Given the description of an element on the screen output the (x, y) to click on. 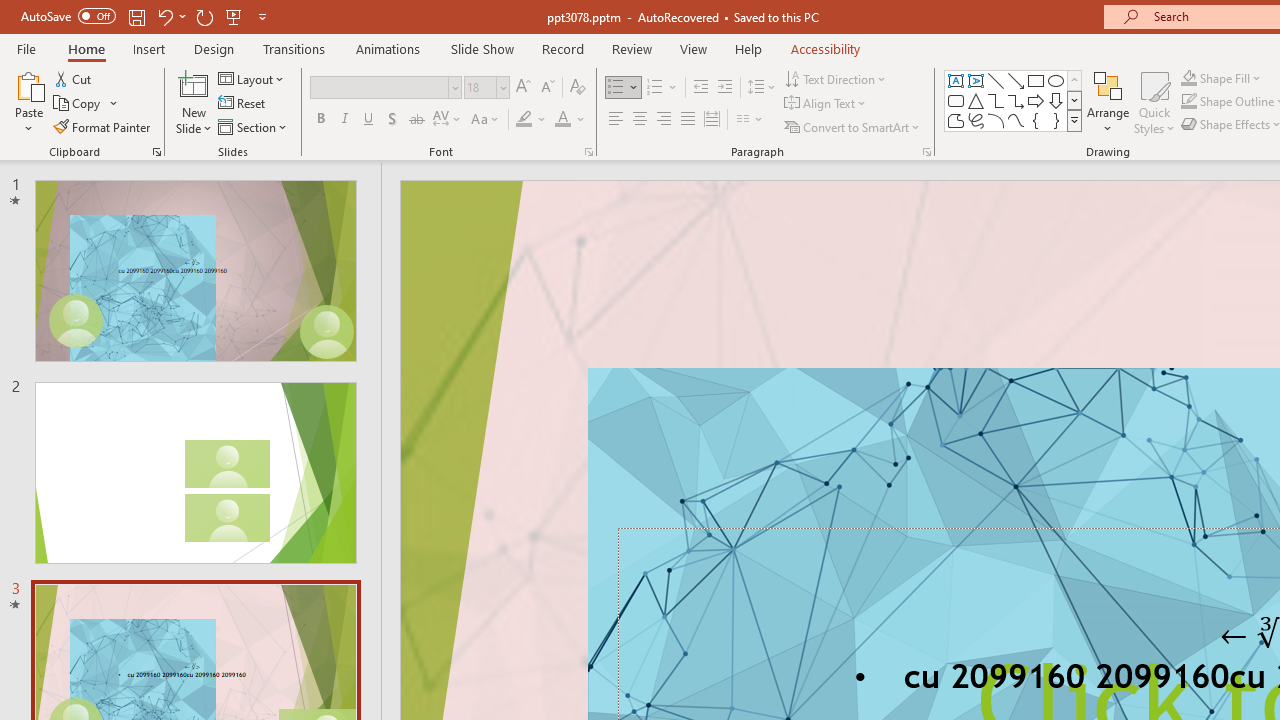
Shape Fill Dark Green, Accent 2 (1188, 78)
